Given the description of an element on the screen output the (x, y) to click on. 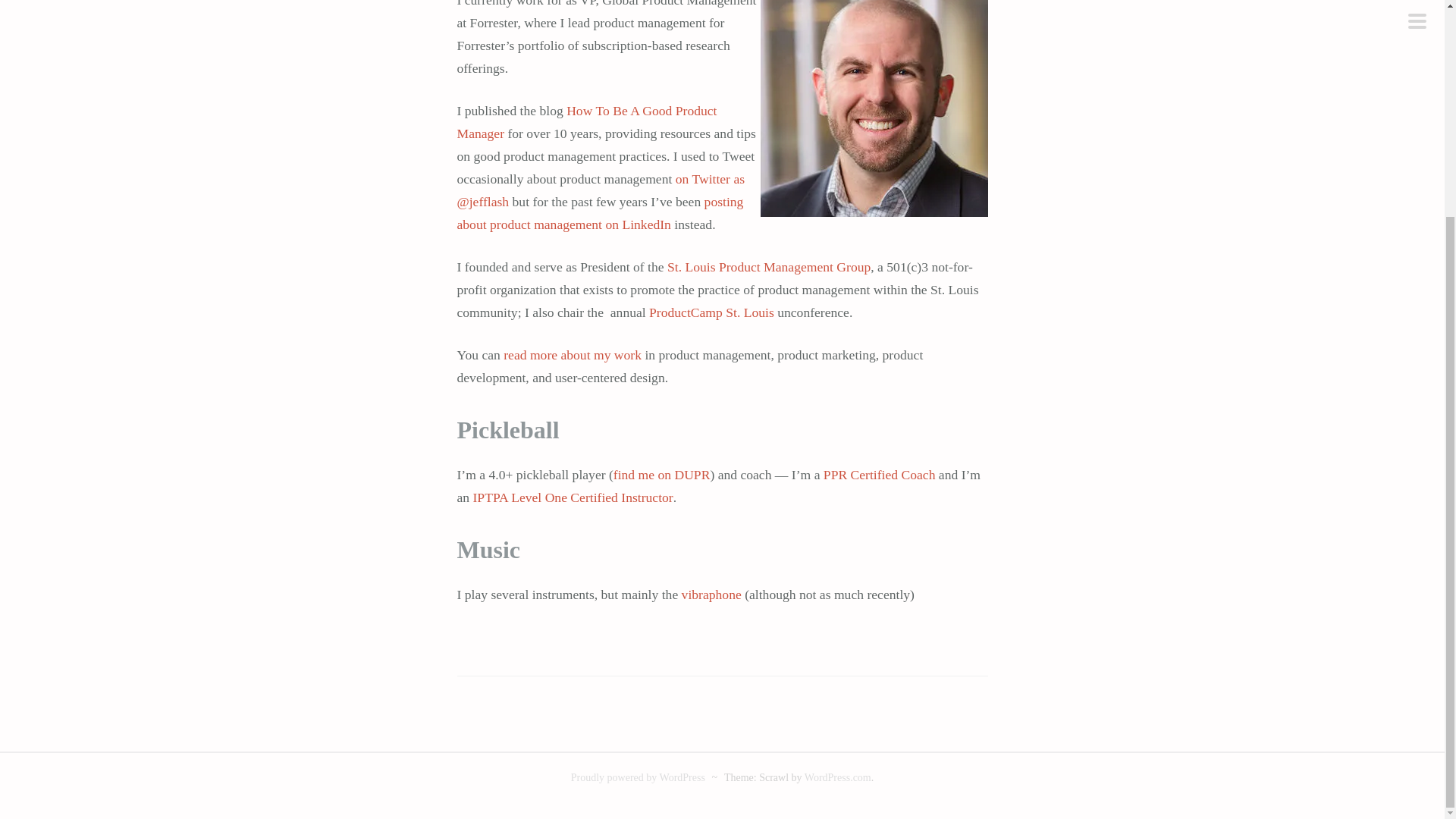
Proudly powered by WordPress (637, 777)
find me on DUPR (661, 474)
St. Louis Product Management Group (768, 266)
IPTPA Level One Certified Instructor (572, 497)
read more about my work (572, 354)
WordPress.com (837, 777)
posting about product management on LinkedIn (599, 212)
How To Be A Good Product Manager (586, 121)
ProductCamp St. Louis (711, 312)
PPR Certified Coach (880, 474)
Photo of Jeff Lash (873, 108)
vibraphone (711, 594)
